Given the description of an element on the screen output the (x, y) to click on. 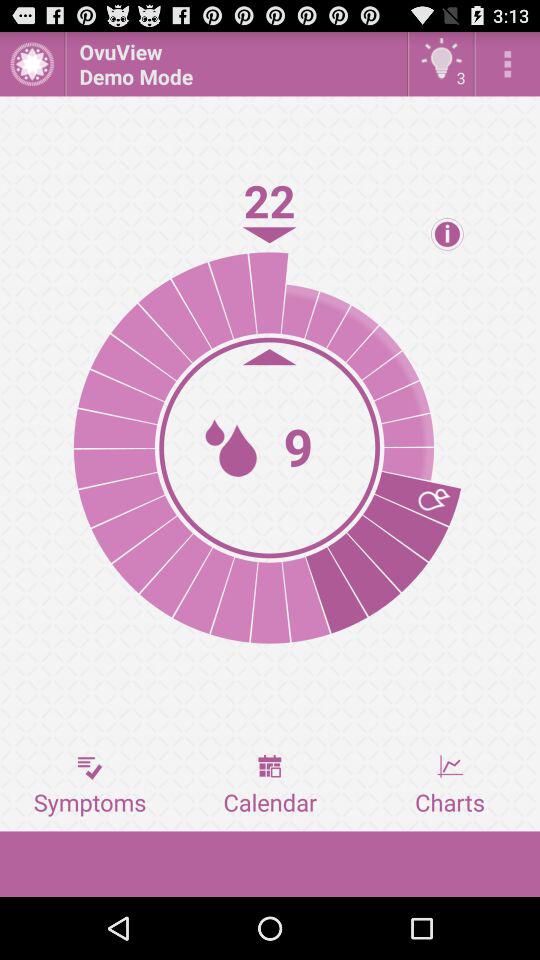
press charts (450, 785)
